Given the description of an element on the screen output the (x, y) to click on. 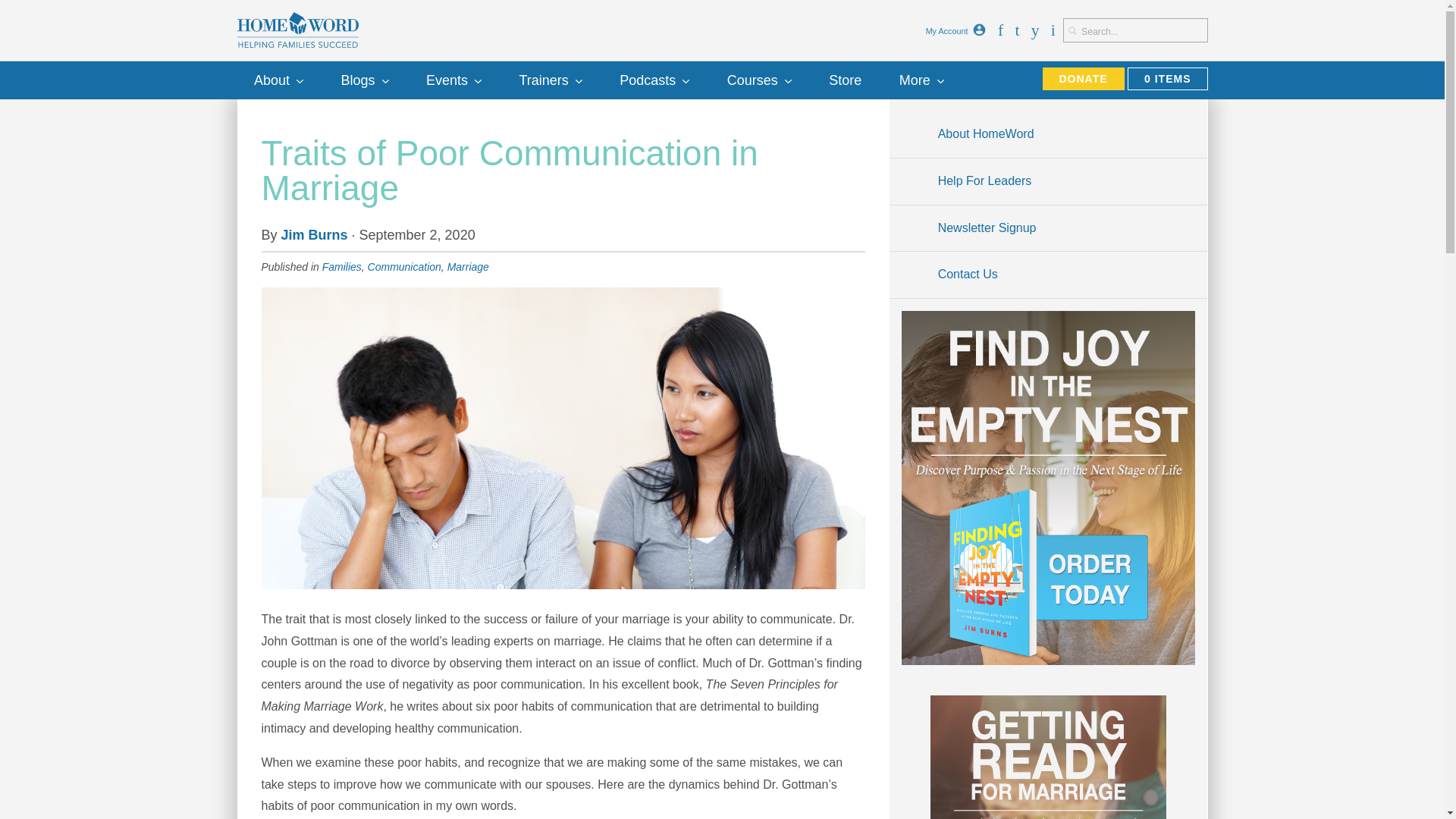
Events (453, 79)
My Account (979, 30)
Search (1072, 30)
Courses (759, 79)
Trainers (550, 79)
Search (1072, 30)
View your shopping cart (1166, 78)
Blogs (364, 79)
Podcasts (654, 79)
Search (1072, 30)
